Given the description of an element on the screen output the (x, y) to click on. 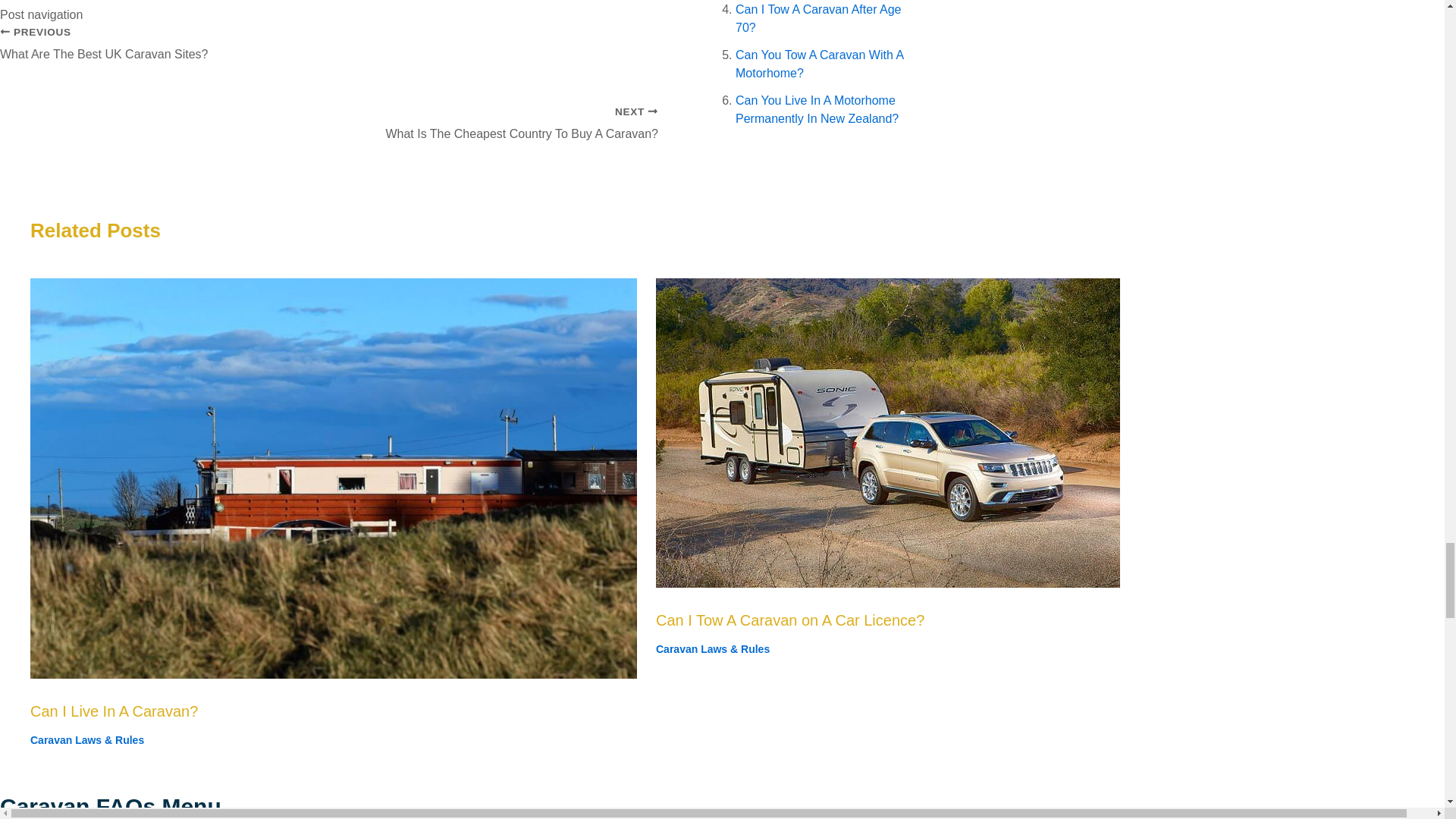
What Is The Cheapest Country To Buy A Caravan? (329, 115)
What Are The Best UK Caravan Sites? (329, 52)
